Given the description of an element on the screen output the (x, y) to click on. 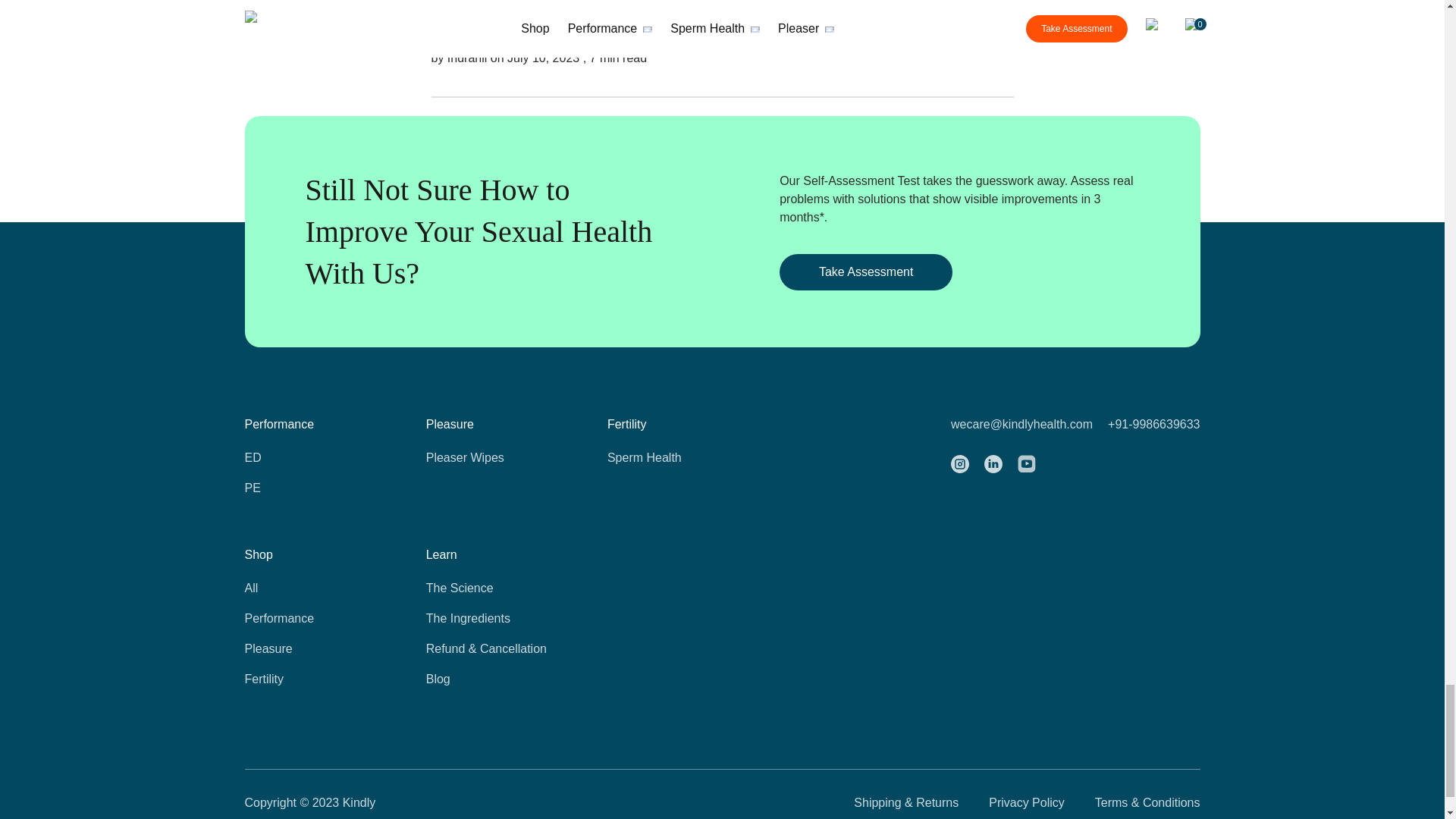
The Science (486, 588)
Blog (486, 679)
ED (304, 457)
PE (304, 488)
Take Assessment (865, 271)
Pleasure (304, 648)
Performance (304, 618)
The Ingredients (486, 618)
All (304, 588)
Pleaser Wipes (486, 457)
